Given the description of an element on the screen output the (x, y) to click on. 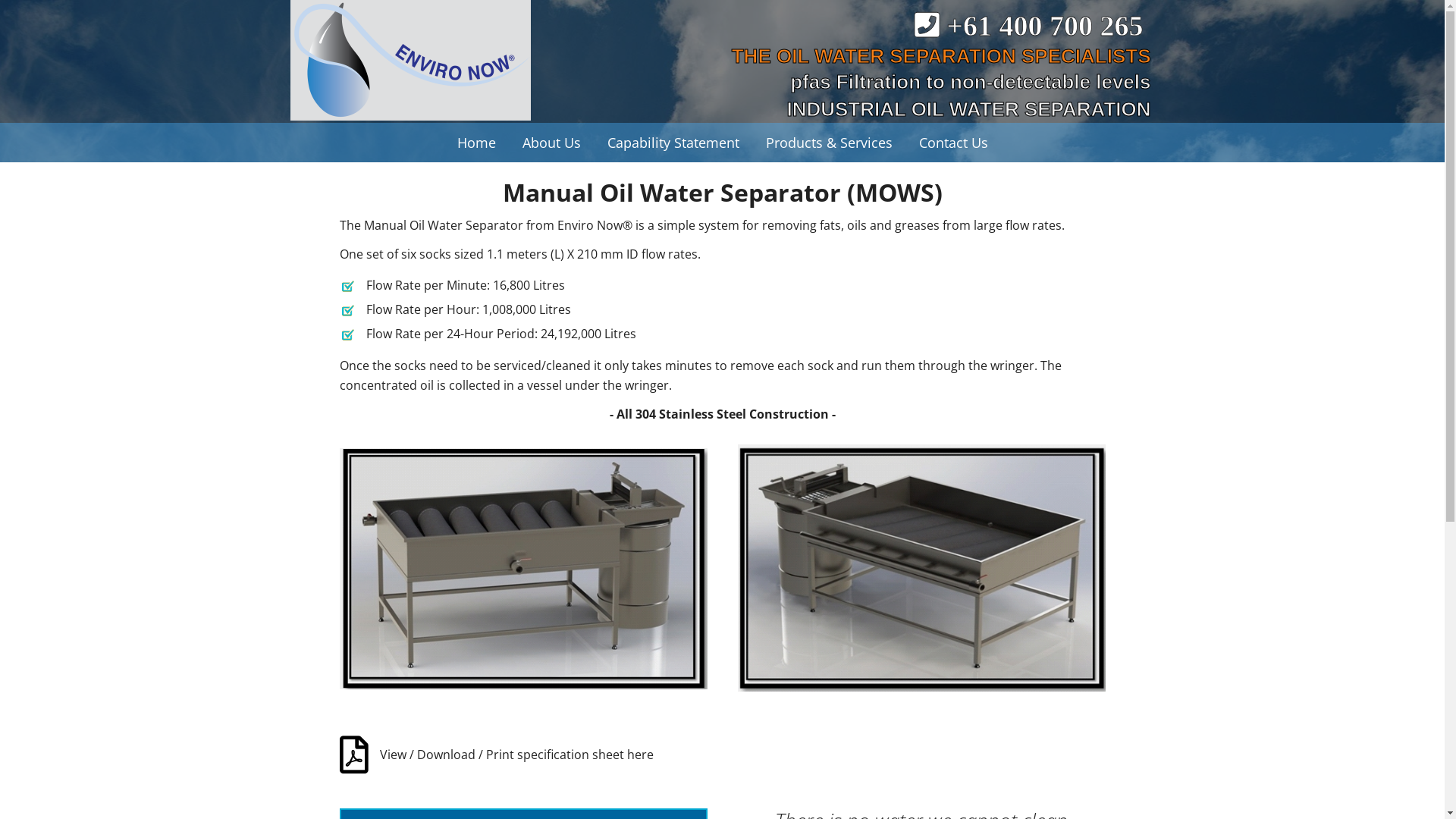
MANUAL OIL WATER SEPARATOR2 Element type: hover (523, 568)
Contact Us Element type: text (952, 142)
Capability Statement Element type: text (673, 142)
View / Download / Print specification sheet here Element type: text (515, 754)
MANUAL OIL WATER SEPARATOR1 Element type: hover (920, 567)
About Us Element type: text (551, 142)
Products & Services Element type: text (828, 142)
Oil Water Separation Element type: text (412, 60)
+61 400 700 265 Element type: text (1032, 25)
Home Element type: text (476, 142)
